Given the description of an element on the screen output the (x, y) to click on. 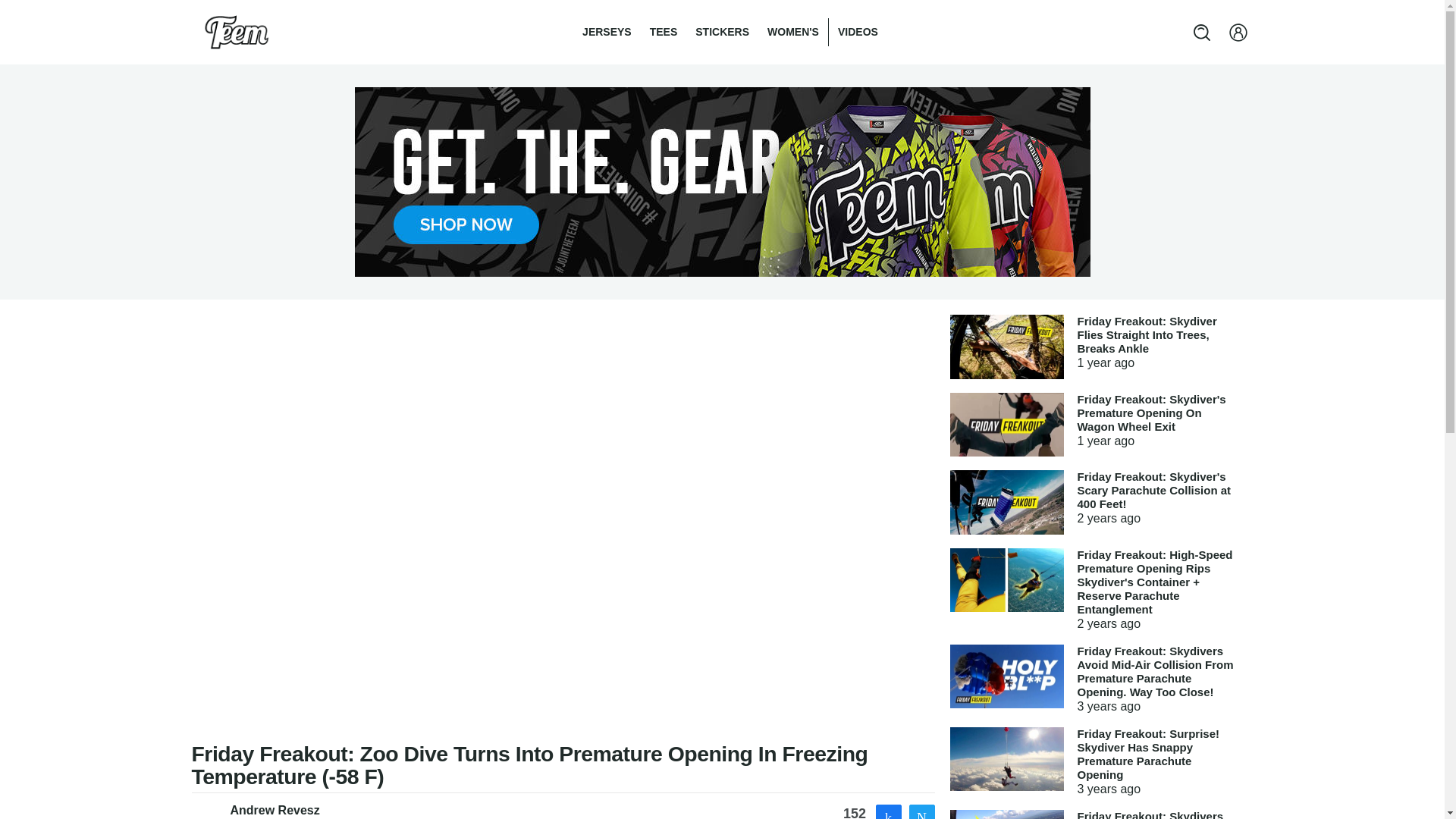
Search (25, 9)
WOMEN'S (793, 31)
STICKERS (721, 31)
VIDEOS (857, 31)
